Given the description of an element on the screen output the (x, y) to click on. 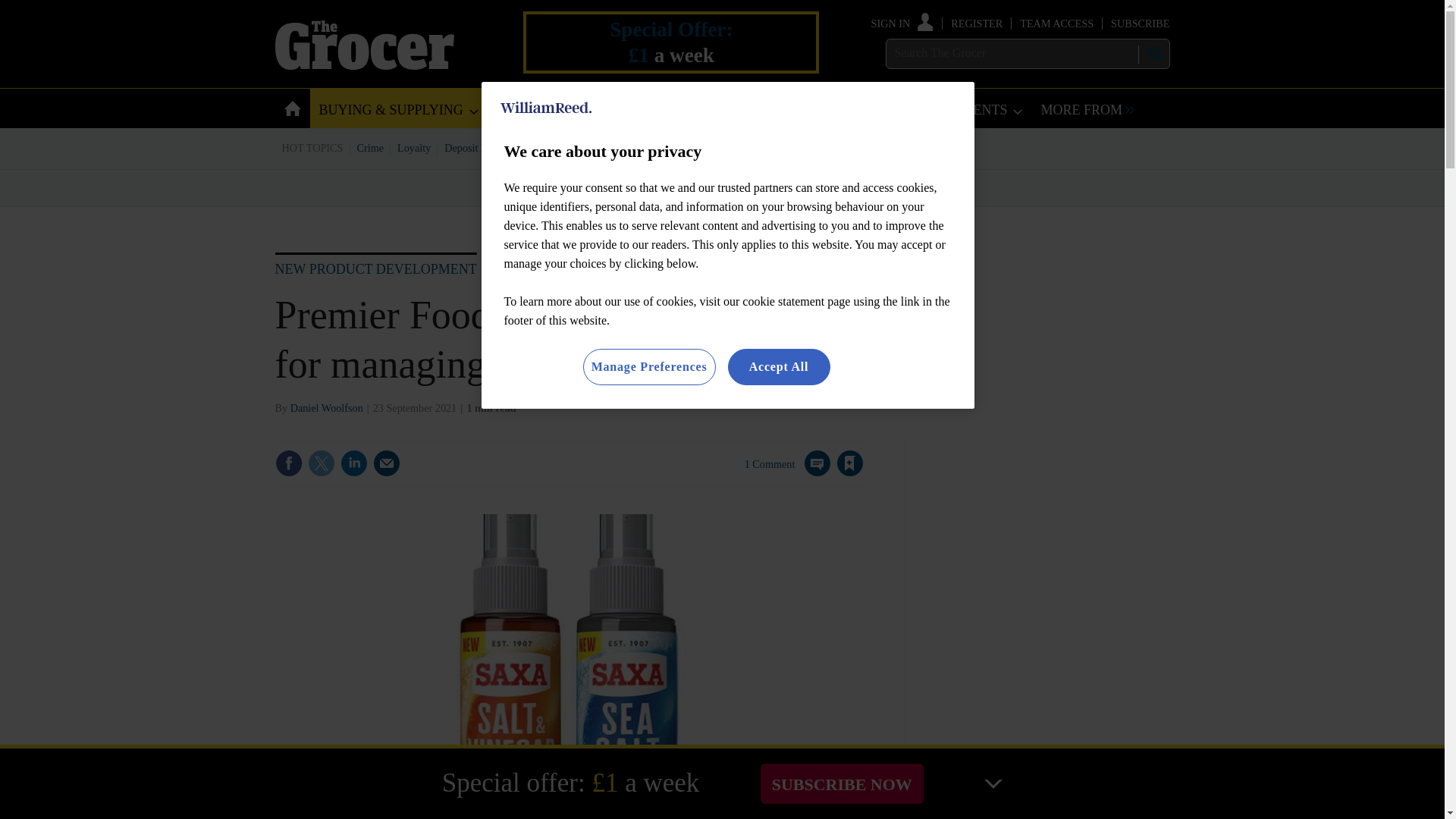
Email this article (386, 462)
Cost of Living Crisis (699, 147)
Site name (363, 65)
Share this on Twitter (320, 462)
Crime (370, 147)
TEAM ACCESS (1056, 23)
Deposit Return Schemes (497, 147)
SUBSCRIBE (1139, 23)
Share this on Facebook (288, 462)
Share this on Linked in (352, 462)
SEARCH (1153, 53)
SUBSCRIBE NOW (841, 783)
Vaping (774, 147)
1 Comment (787, 472)
KVI price tracker (602, 147)
